Given the description of an element on the screen output the (x, y) to click on. 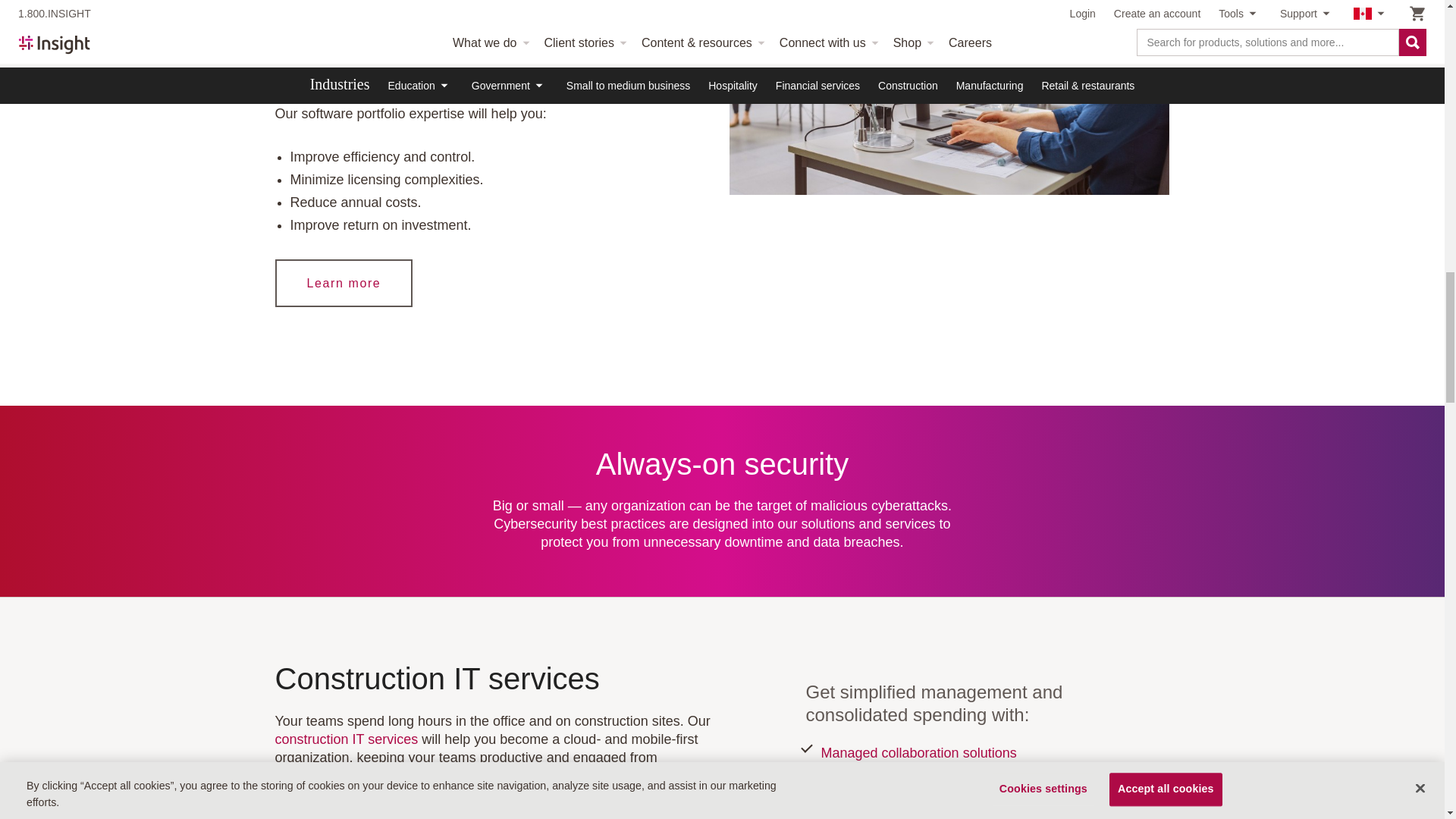
Create workflow efficiencies that free teams (949, 97)
